Given the description of an element on the screen output the (x, y) to click on. 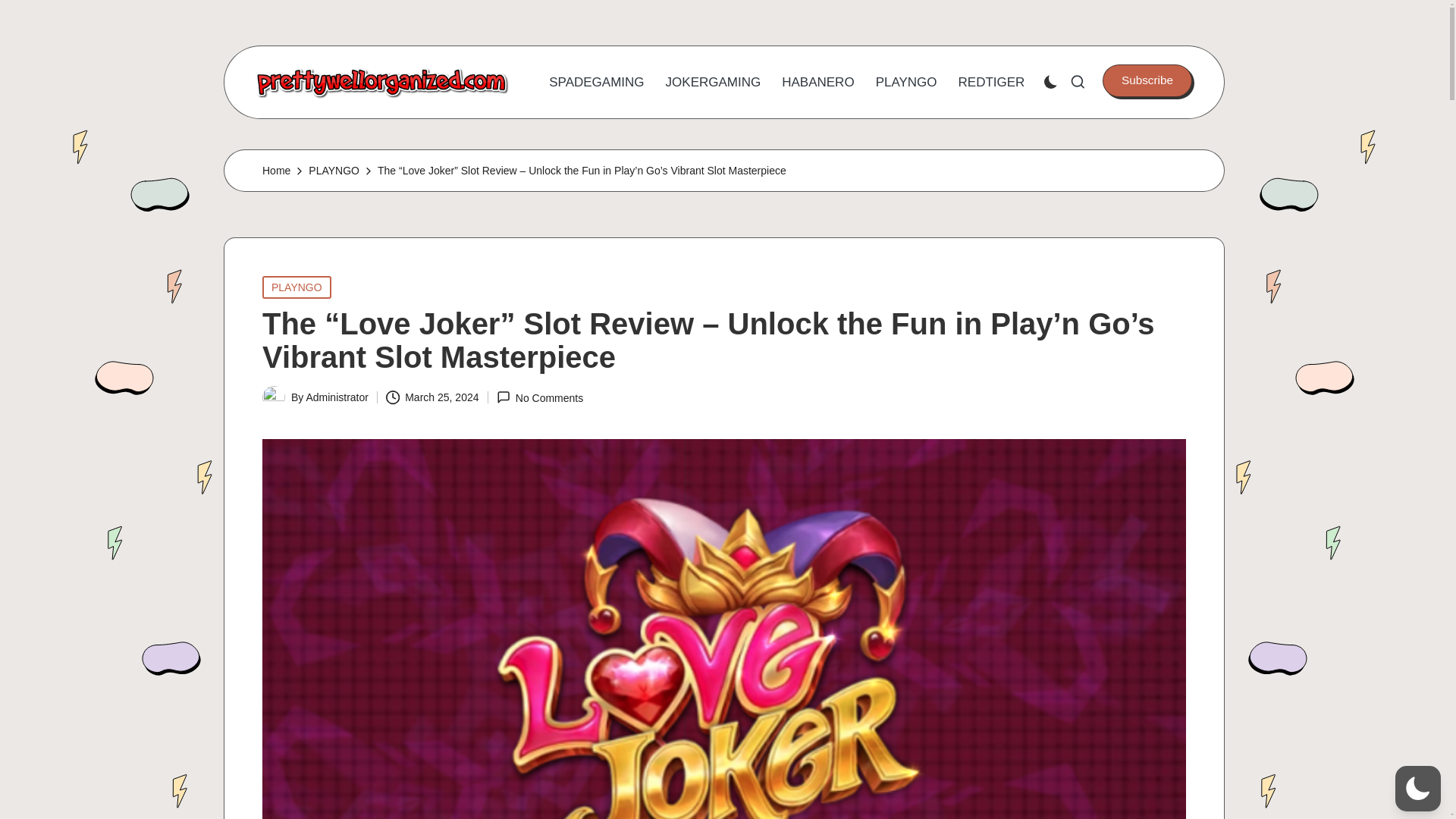
No Comments (539, 397)
HABANERO (817, 82)
SPADEGAMING (595, 82)
Administrator (336, 397)
Subscribe (1147, 80)
JOKERGAMING (713, 82)
PLAYNGO (906, 82)
PLAYNGO (333, 170)
View all posts by Administrator (336, 397)
REDTIGER (991, 82)
Home (275, 170)
PLAYNGO (296, 287)
